Given the description of an element on the screen output the (x, y) to click on. 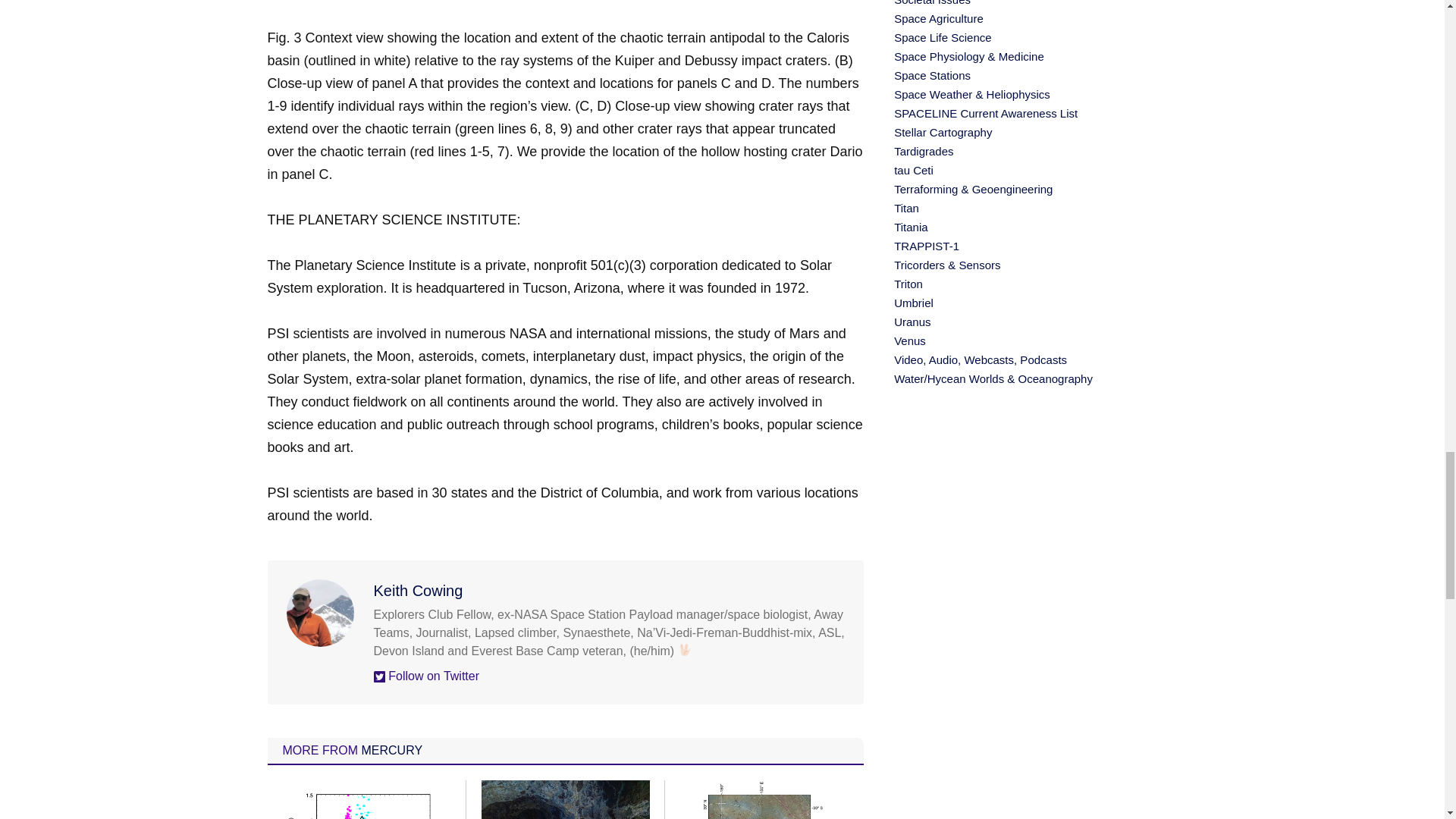
Follow on Twitter (425, 675)
Keith Cowing (417, 590)
MERCURY (391, 749)
